Given the description of an element on the screen output the (x, y) to click on. 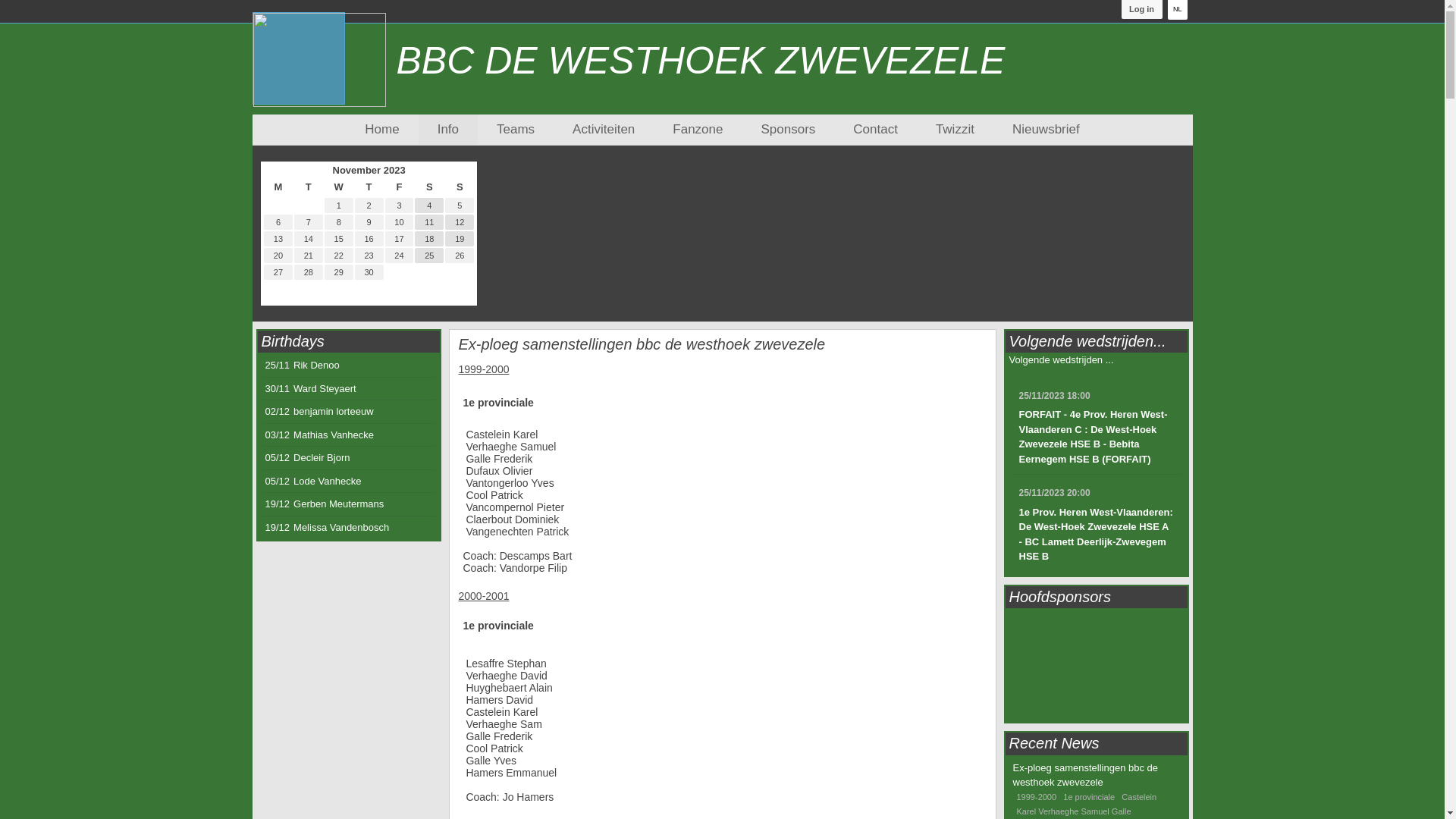
  Element type: text (459, 169)
Nieuwsbrief Element type: text (1045, 129)
11 Element type: text (428, 221)
  Element type: text (277, 169)
19 Element type: text (459, 238)
Home Element type: text (381, 129)
Sponsors Element type: text (787, 129)
Log in Element type: text (1141, 9)
Contact Element type: text (875, 129)
4 Element type: text (428, 204)
Activiteiten Element type: text (603, 129)
25 Element type: text (428, 255)
18 Element type: text (428, 238)
Twizzit Element type: text (954, 129)
Ex-ploeg samenstellingen bbc de westhoek zwevezele Element type: text (641, 343)
NL Element type: text (1177, 9)
12 Element type: text (459, 221)
